Given the description of an element on the screen output the (x, y) to click on. 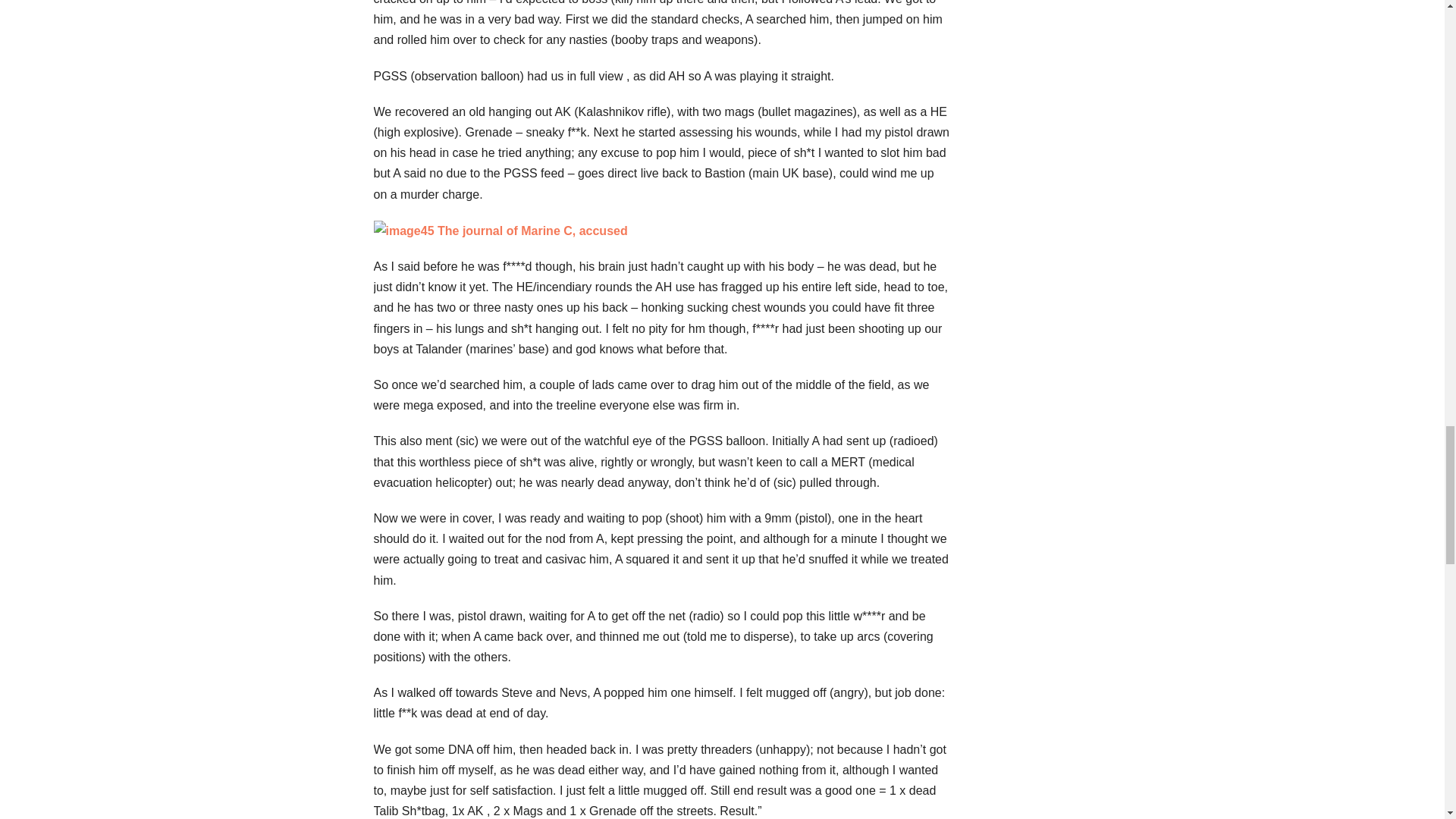
The journal of Marine C, accused (499, 230)
